Given the description of an element on the screen output the (x, y) to click on. 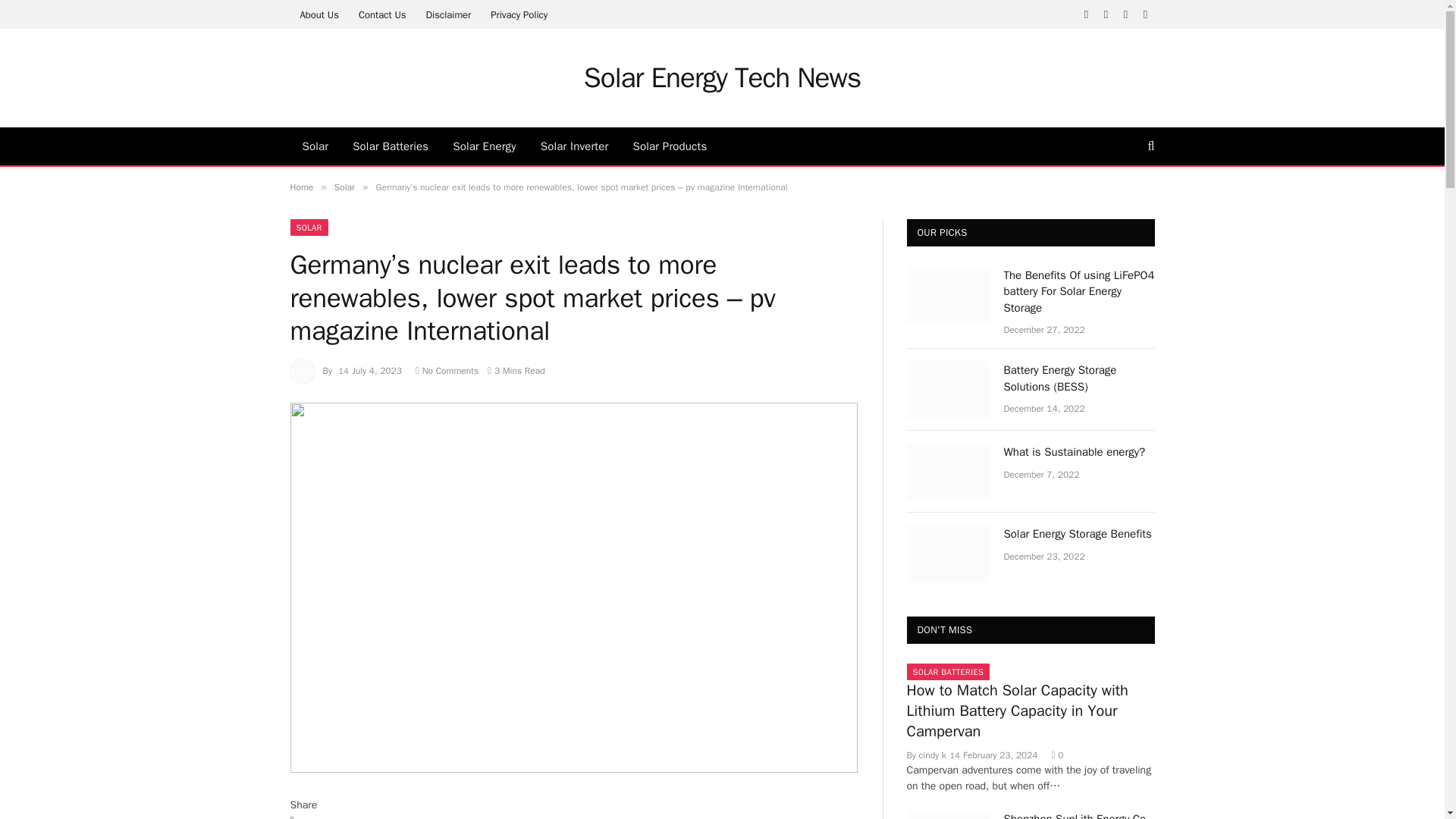
Solar Batteries (390, 146)
Solar (314, 146)
About Us (318, 14)
Solar Products (670, 146)
Solar Energy (484, 146)
SOLAR (308, 227)
Solar Inverter (574, 146)
Disclaimer (447, 14)
No Comments (446, 370)
Contact Us (382, 14)
Solar Energy Tech News (721, 77)
Solar Energy Tech News (721, 77)
Solar (344, 186)
Home (301, 186)
Privacy Policy (518, 14)
